Given the description of an element on the screen output the (x, y) to click on. 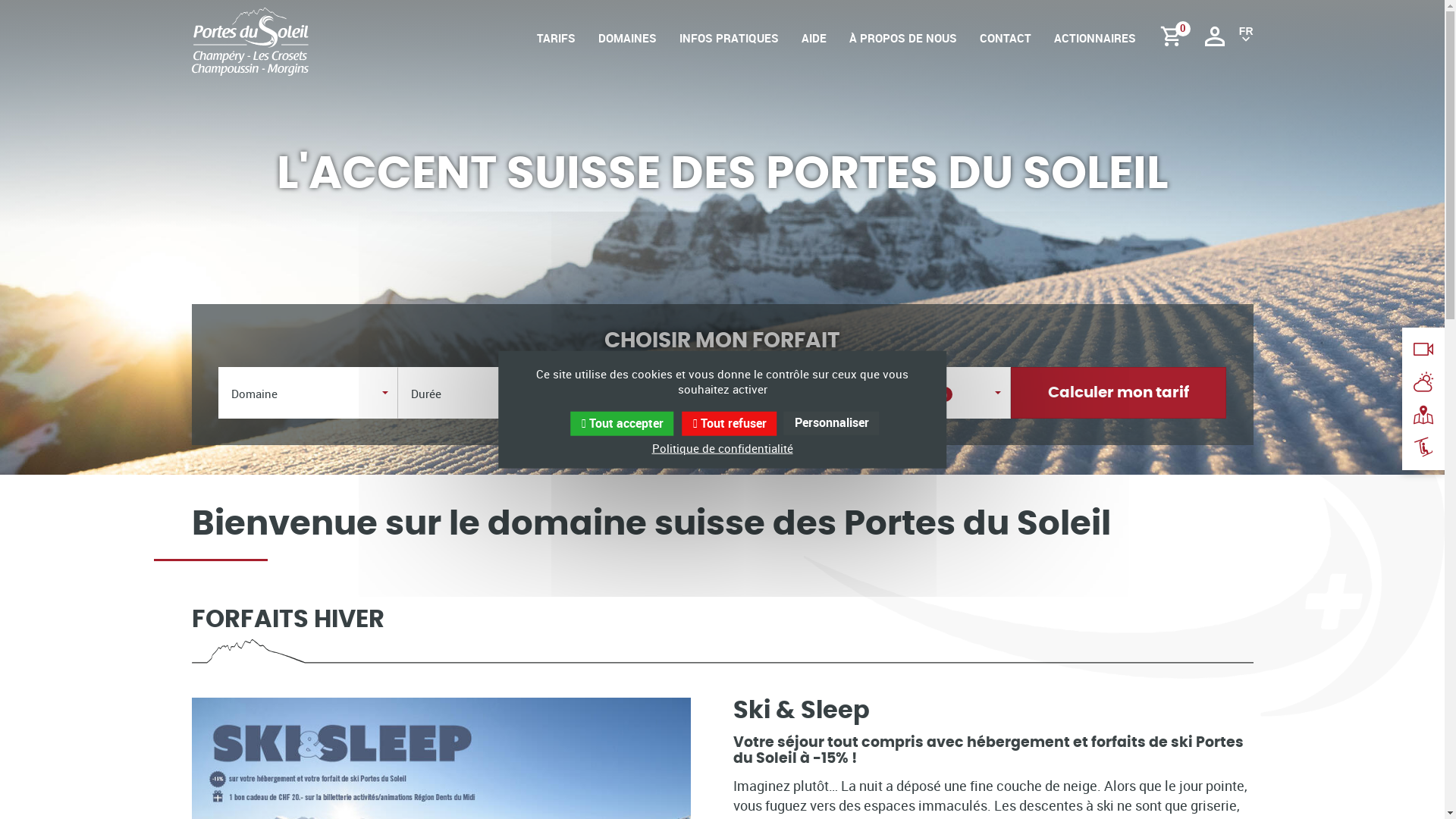
FR Element type: text (1246, 35)
AIDE Element type: text (812, 53)
CONTACT Element type: text (1005, 53)
ACTIONNAIRES Element type: text (1094, 53)
TARIFS Element type: text (555, 53)
DOMAINES Element type: text (626, 53)
INFOS PRATIQUES Element type: text (728, 53)
Nombre de personnes 0 Element type: text (906, 392)
Calculer mon tarif Element type: text (1118, 392)
Tout accepter Element type: text (621, 423)
Infos ouverture Element type: hover (1423, 447)
0 Element type: text (1175, 36)
Webcams Element type: hover (1423, 349)
Plan des pistes Element type: hover (1423, 414)
Personnaliser Element type: text (831, 423)
Domaine Element type: text (308, 392)
Tout refuser Element type: text (729, 423)
